Given the description of an element on the screen output the (x, y) to click on. 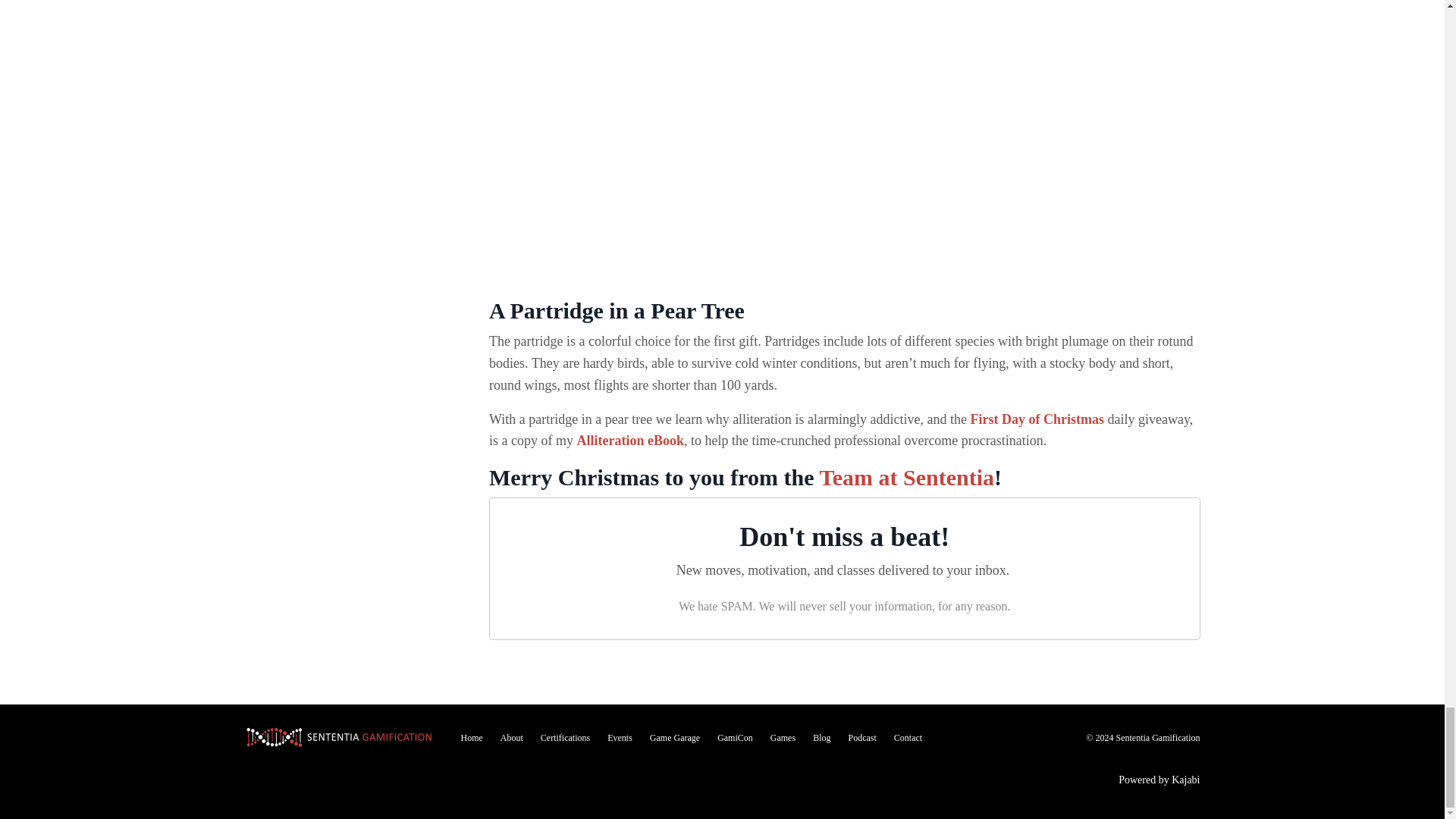
First Day of Christmas (1037, 418)
Team at Sententia (906, 477)
Team at Sententia (906, 477)
Alliteration eBook (630, 440)
Alliteration eBook (630, 440)
First Day of Christmas (1037, 418)
